Given the description of an element on the screen output the (x, y) to click on. 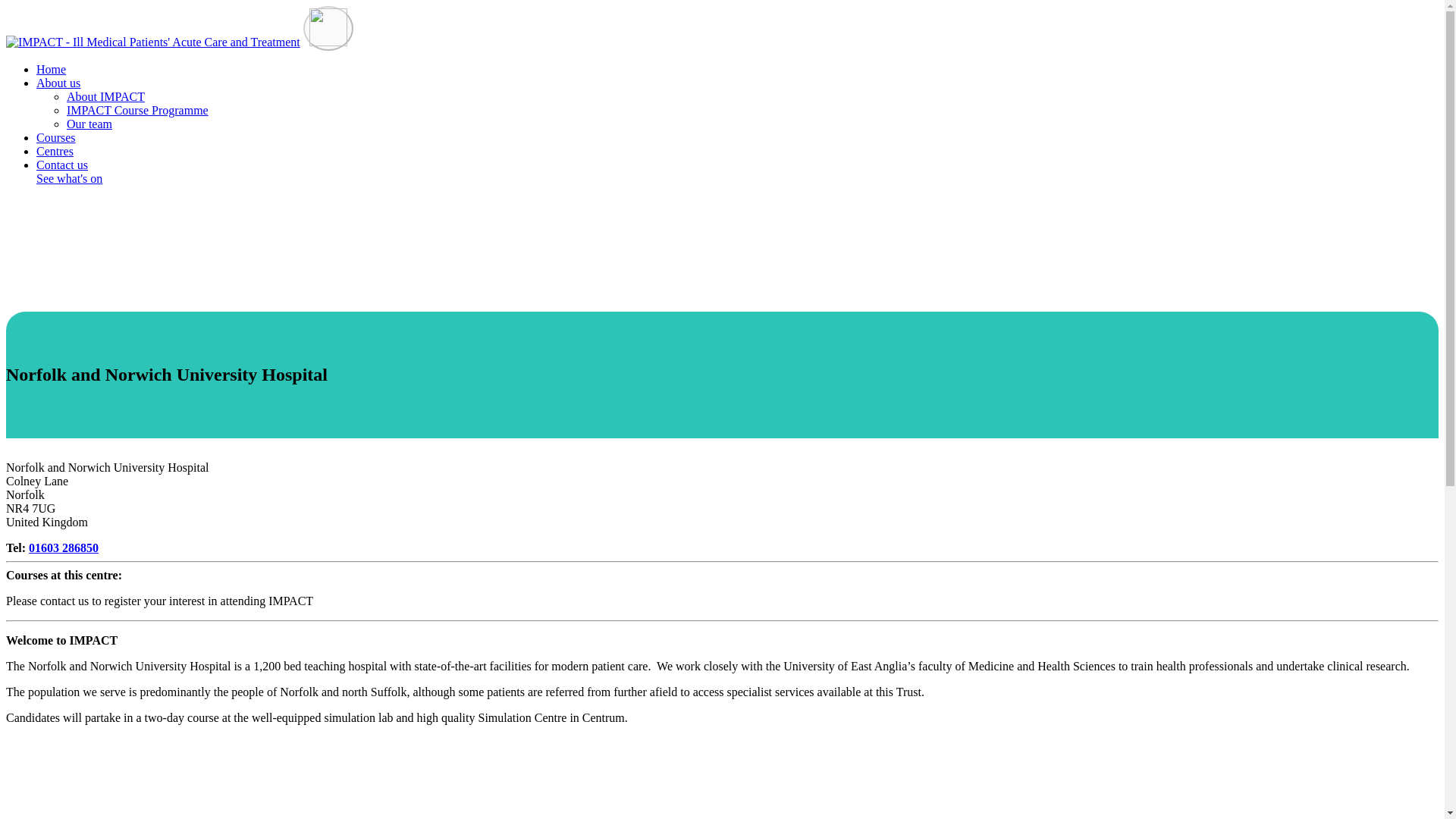
See what's on (68, 178)
Centres (55, 151)
About IMPACT (105, 96)
Contact us (61, 164)
Our team (89, 123)
IMPACT Course Programme (137, 110)
Home (50, 69)
Courses (55, 137)
About us (58, 82)
01603 286850 (64, 547)
